Given the description of an element on the screen output the (x, y) to click on. 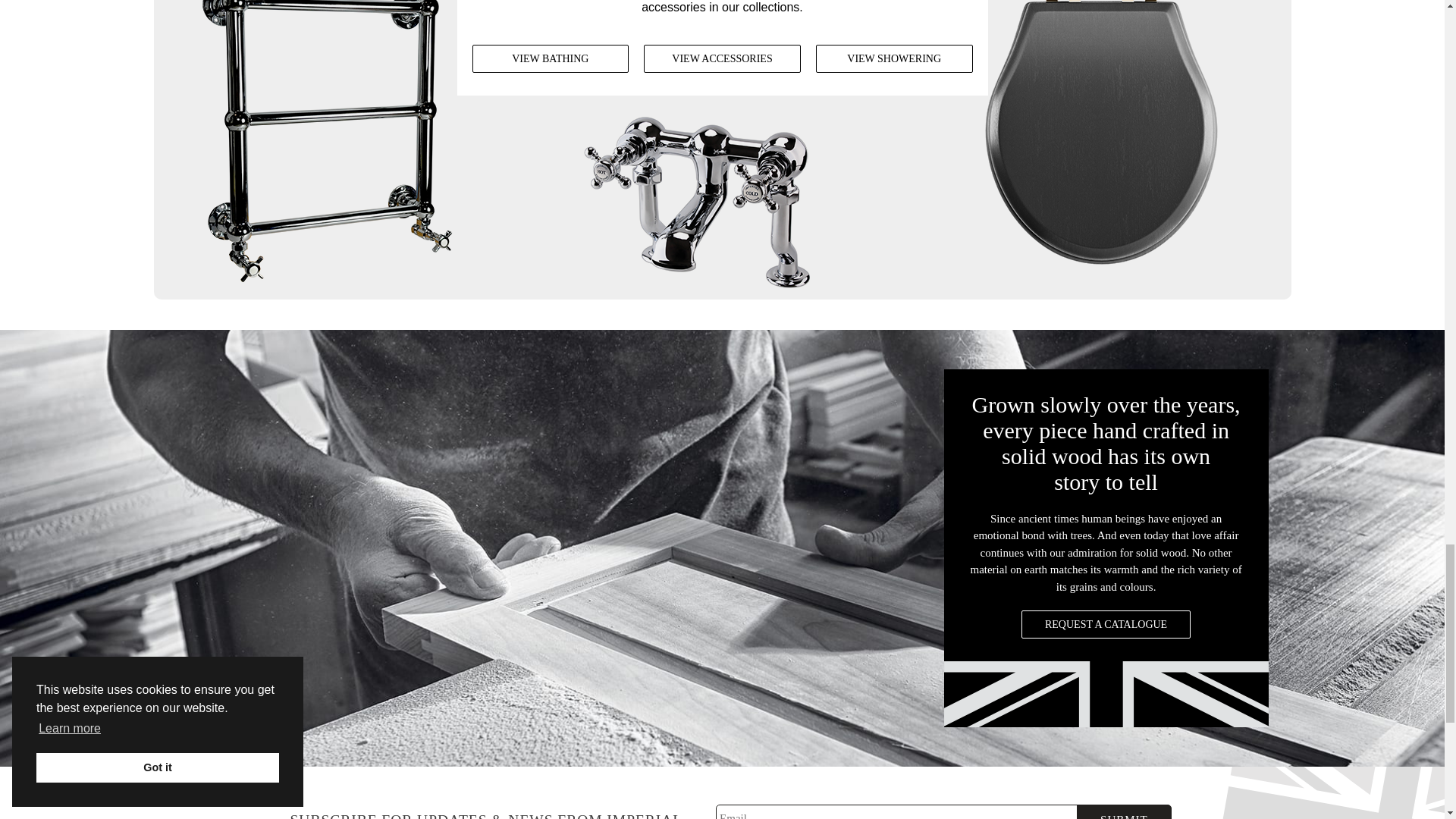
Submit (1124, 811)
